Given the description of an element on the screen output the (x, y) to click on. 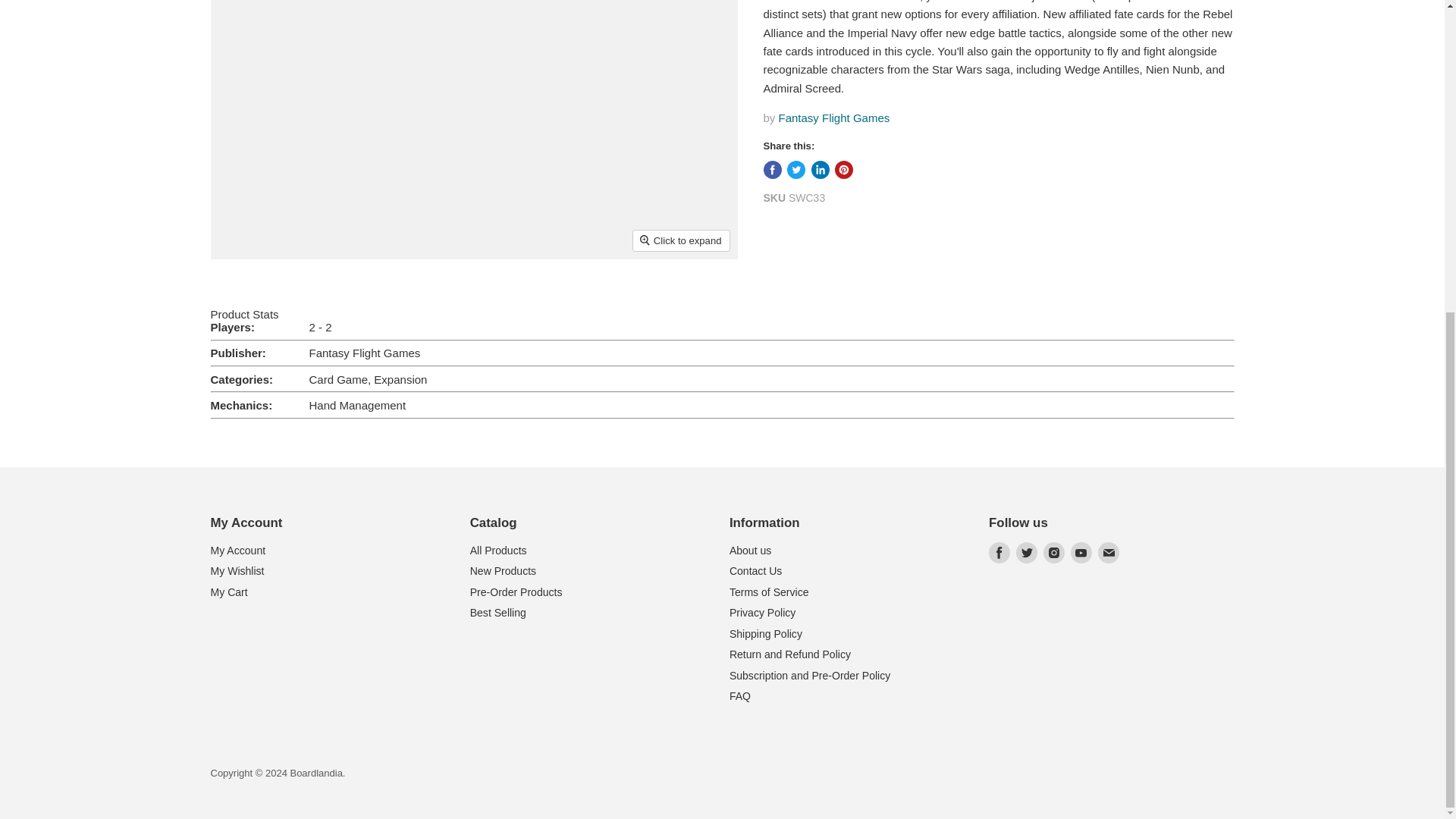
Youtube (1081, 552)
Email (1108, 552)
Fantasy Flight Games (833, 117)
Facebook (999, 552)
Twitter (1026, 552)
Instagram (1053, 552)
